Given the description of an element on the screen output the (x, y) to click on. 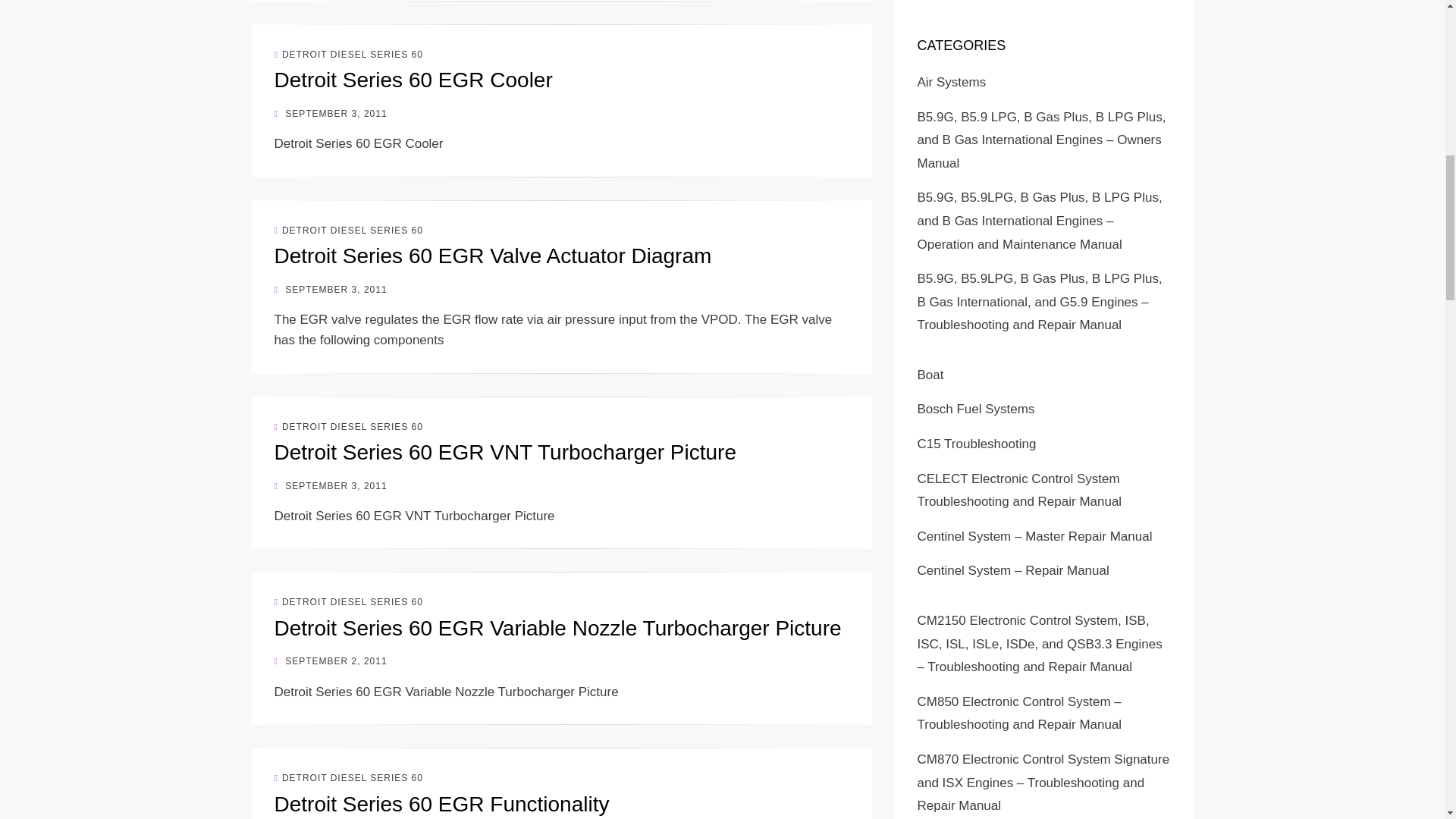
Air Systems (952, 82)
Detroit Diesel Series 60 (349, 230)
Detroit Series 60 EGR VNT Turbocharger Picture (505, 452)
Detroit Series 60 EGR Functionality (442, 803)
Detroit Series 60 EGR Valve Actuator Diagram (493, 255)
DETROIT DIESEL SERIES 60 (349, 777)
Detroit Series 60 EGR Cooler (414, 79)
SEPTEMBER 3, 2011 (331, 113)
DETROIT DIESEL SERIES 60 (349, 426)
DETROIT DIESEL SERIES 60 (349, 602)
